Given the description of an element on the screen output the (x, y) to click on. 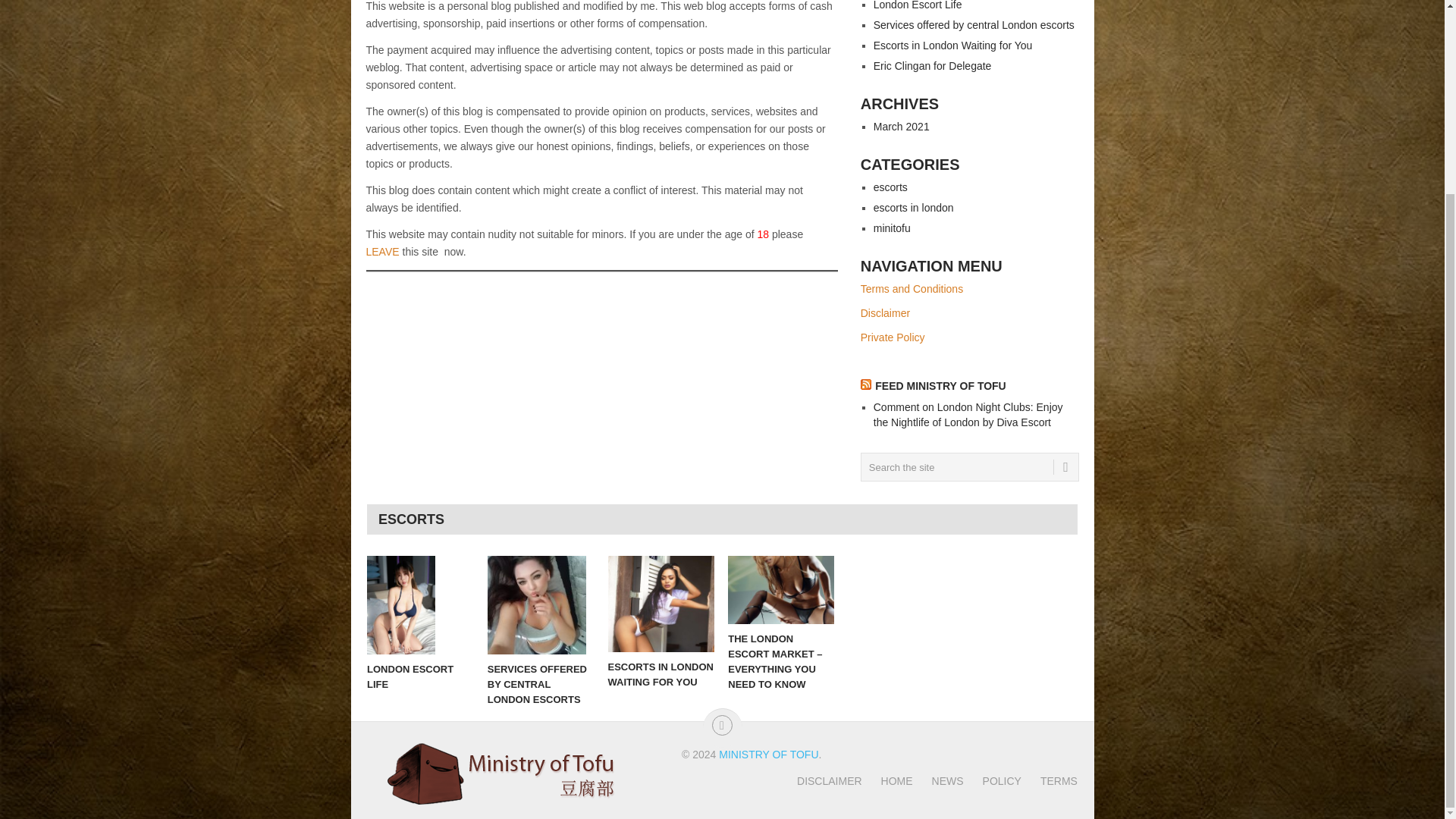
FEED MINISTRY OF TOFU (940, 386)
HOME (886, 780)
Terms and Conditions (911, 288)
Escorts in London Waiting for You (661, 603)
Eric Clingan for Delegate (932, 65)
Search the site (969, 466)
March 2021 (901, 126)
TERMS (1049, 780)
escorts in london (913, 207)
POLICY (992, 780)
ESCORTS IN LONDON WAITING FOR YOU (661, 603)
Services offered by central London escorts (540, 605)
MINISTRY OF TOFU (768, 754)
Disclaimer (885, 313)
